Given the description of an element on the screen output the (x, y) to click on. 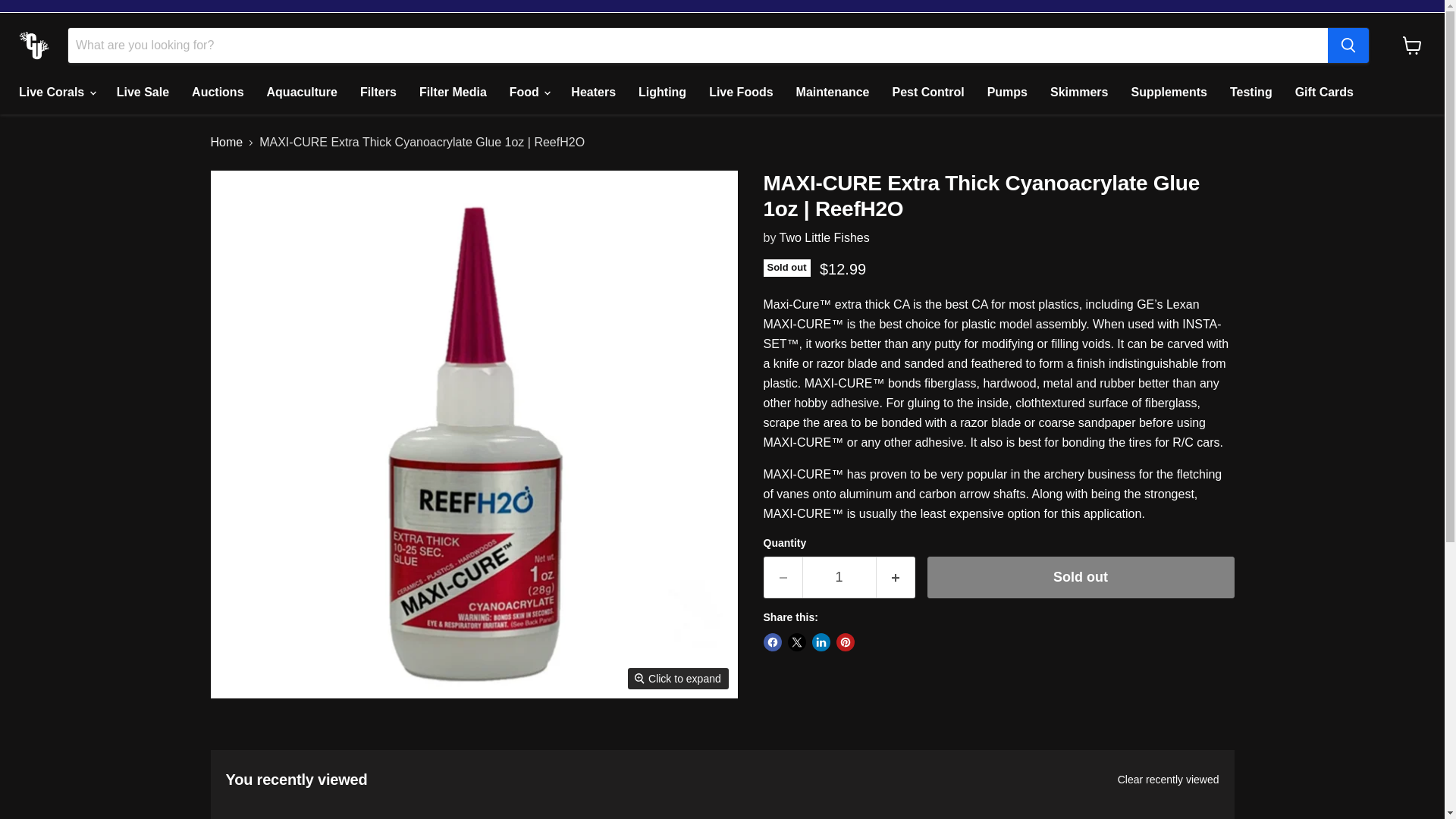
Maintenance (832, 92)
Pest Control (927, 92)
Testing (1251, 92)
Live Foods (740, 92)
Skimmers (1079, 92)
Filters (378, 92)
Filter Media (452, 92)
Lighting (662, 92)
Auctions (217, 92)
Two Little Fishes (823, 237)
Heaters (593, 92)
Live Sale (142, 92)
1 (839, 577)
View cart (1411, 45)
Aquaculture (302, 92)
